Given the description of an element on the screen output the (x, y) to click on. 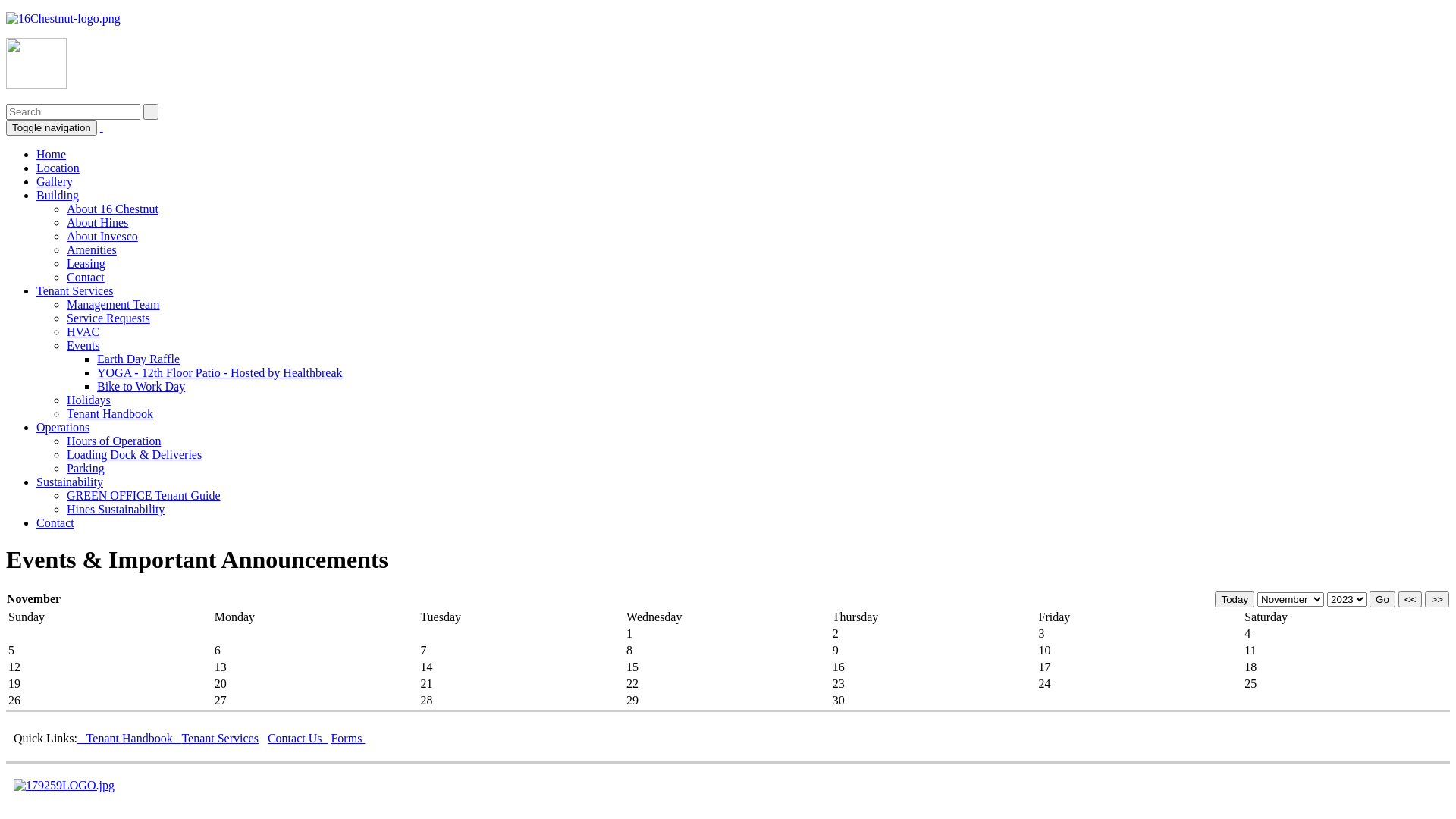
Holidays Element type: text (88, 399)
  Element type: text (101, 126)
Contact Element type: text (55, 522)
Operations Element type: text (62, 426)
Home Element type: text (50, 153)
Bike to Work Day Element type: text (141, 385)
>> Element type: text (1436, 599)
HVAC Element type: text (82, 331)
Tenant Services Element type: text (219, 737)
Building Element type: text (57, 194)
Leasing Element type: text (85, 263)
Gallery Element type: text (54, 181)
Events Element type: text (83, 344)
Amenities Element type: text (91, 249)
Tenant Handbook Element type: text (109, 413)
Service Requests Element type: text (108, 317)
Forms  Element type: text (347, 737)
Toggle navigation Element type: text (51, 127)
Sustainability Element type: text (69, 481)
   Tenant Handbook    Element type: text (129, 737)
About 16 Chestnut Element type: text (112, 208)
Hours of Operation Element type: text (113, 440)
Location Element type: text (57, 167)
About Hines Element type: text (97, 222)
About Invesco Element type: text (102, 235)
GREEN OFFICE Tenant Guide Element type: text (143, 495)
Management Team Element type: text (113, 304)
Today Element type: text (1234, 599)
Loading Dock & Deliveries Element type: text (133, 454)
Go Element type: text (1382, 599)
Hines Sustainability Element type: text (115, 508)
Parking Element type: text (85, 467)
<< Element type: text (1410, 599)
Earth Day Raffle Element type: text (138, 358)
YOGA - 12th Floor Patio - Hosted by Healthbreak Element type: text (219, 372)
Contact Us   Element type: text (297, 737)
Tenant Services Element type: text (74, 290)
Contact Element type: text (85, 276)
